Given the description of an element on the screen output the (x, y) to click on. 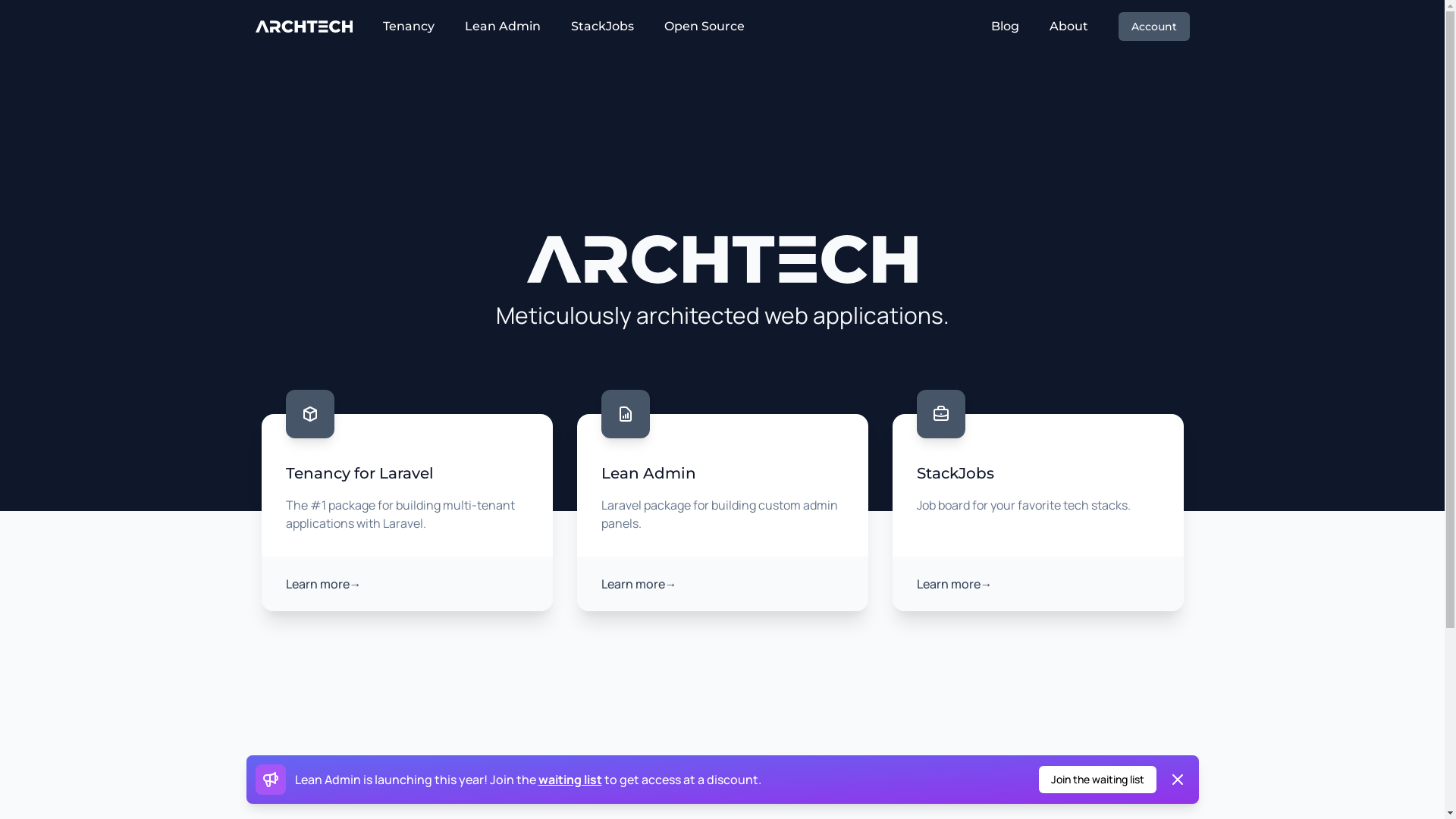
Lean Admin Element type: text (502, 26)
Open Source Element type: text (704, 26)
StackJobs Element type: text (602, 26)
Join the waiting list Element type: text (1097, 779)
About Element type: text (1068, 26)
ArchTech Element type: hover (722, 259)
ArchTech Element type: hover (303, 26)
Blog Element type: text (1004, 26)
Account Element type: text (1153, 26)
Tenancy Element type: text (408, 26)
